Given the description of an element on the screen output the (x, y) to click on. 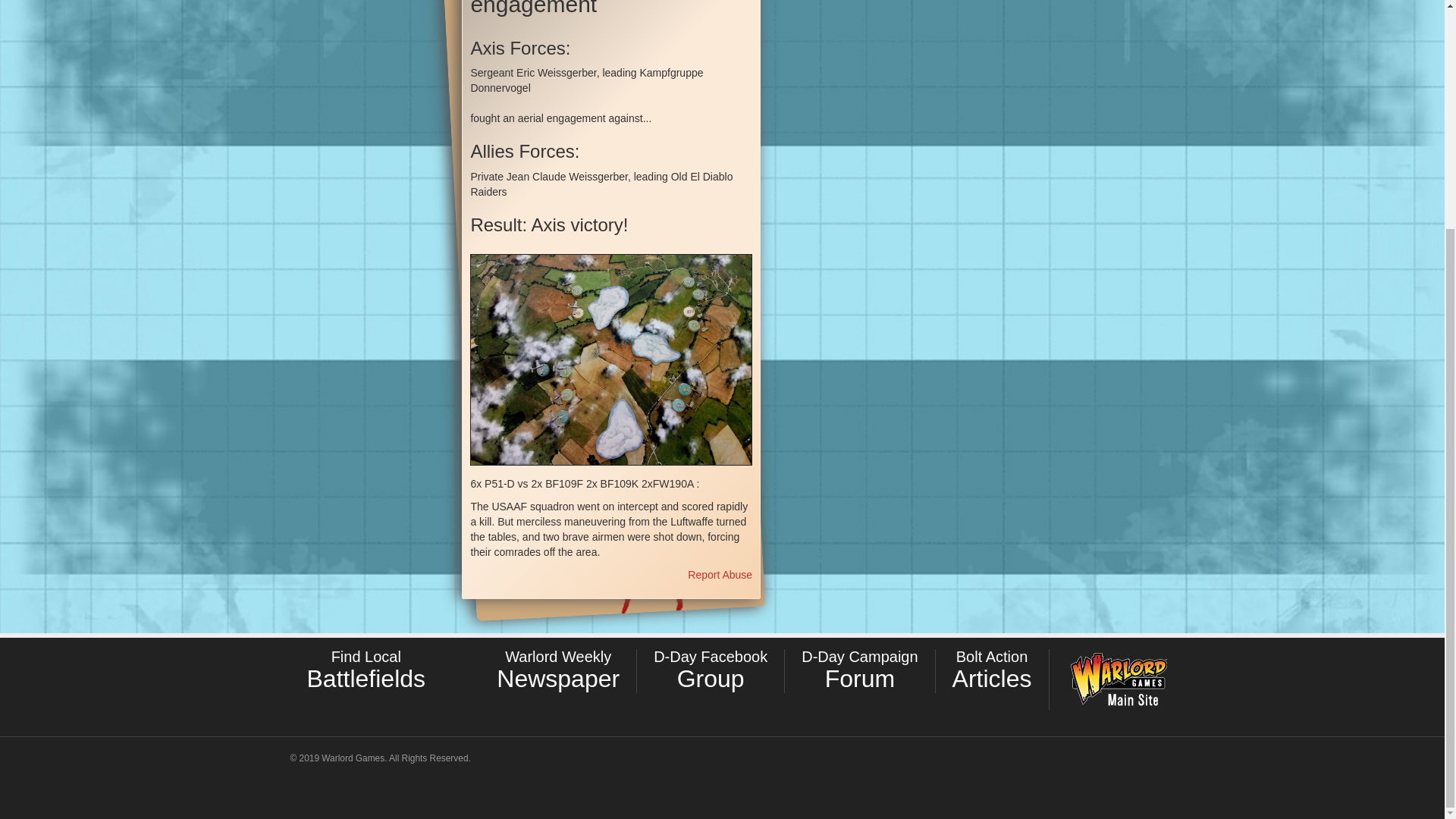
Report Abuse (719, 574)
